Given the description of an element on the screen output the (x, y) to click on. 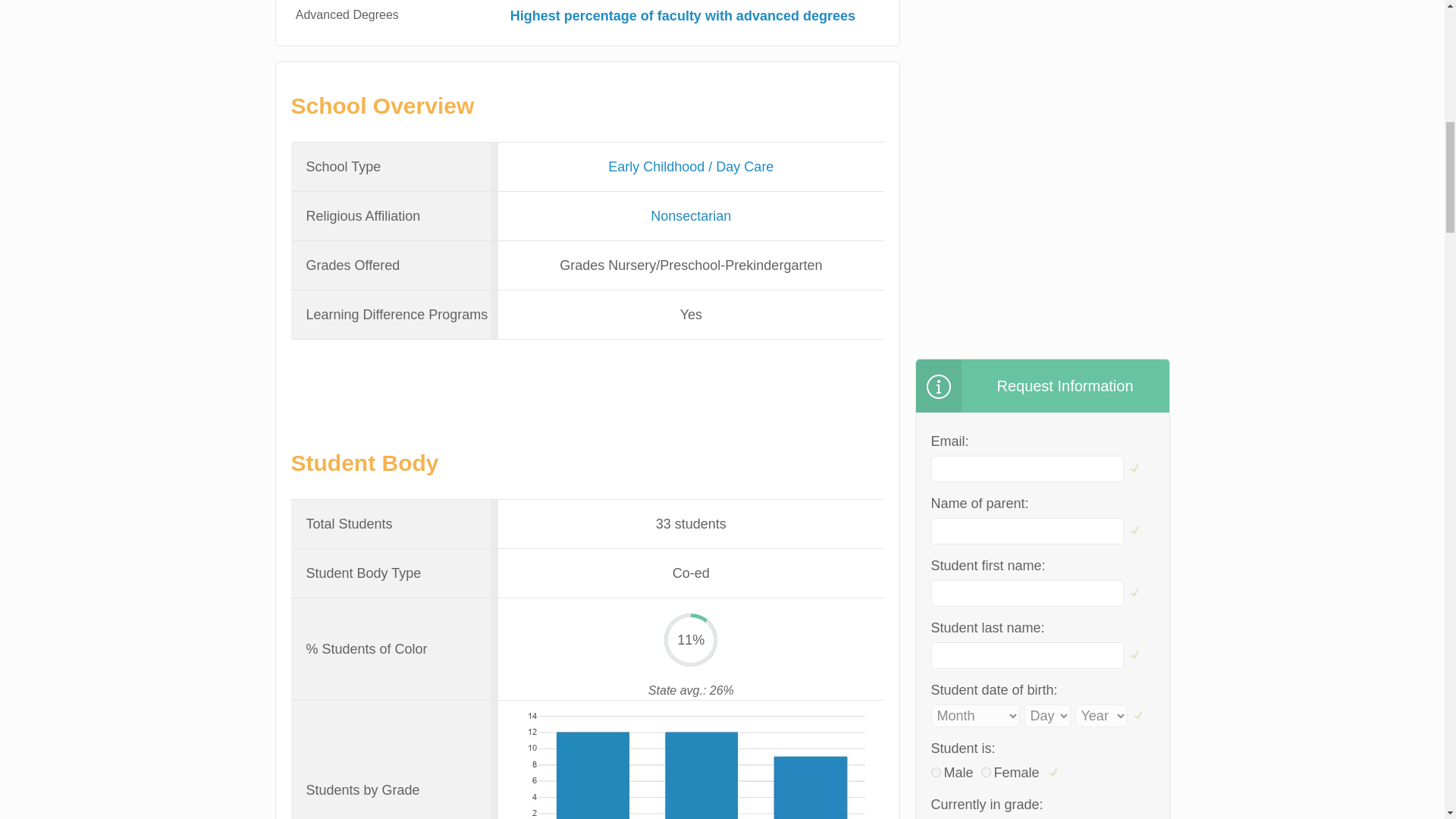
male (935, 772)
female (986, 772)
Nonsectarian (690, 215)
Highest percentage of faculty with advanced degrees (683, 15)
Lancaster Cooperative Preschool Student By Grade  (690, 760)
